Given the description of an element on the screen output the (x, y) to click on. 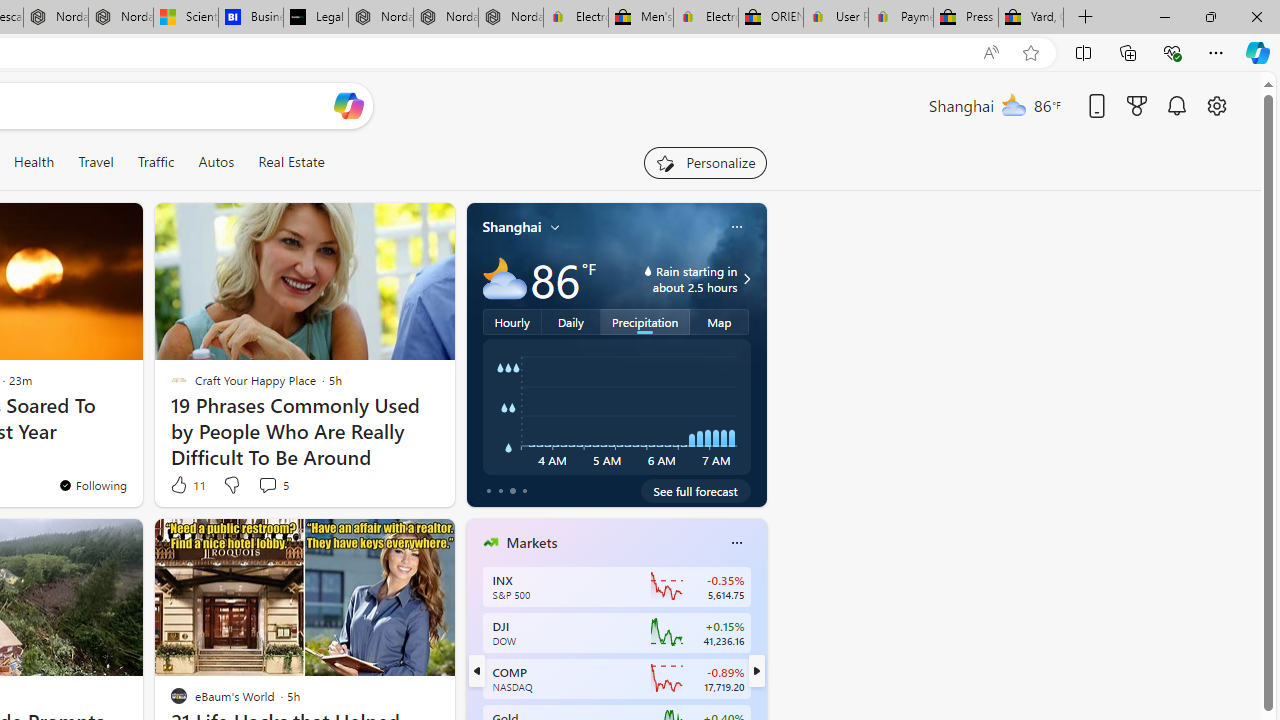
Markets (531, 543)
Rain starting in about 2.5 hours (744, 278)
Daily (571, 321)
Map (719, 321)
water-drop-icon Rain starting in about 2.5 hours (674, 278)
tab-3 (524, 490)
Class: weather-arrow-glyph (746, 278)
Autos (216, 162)
previous (476, 670)
